Given the description of an element on the screen output the (x, y) to click on. 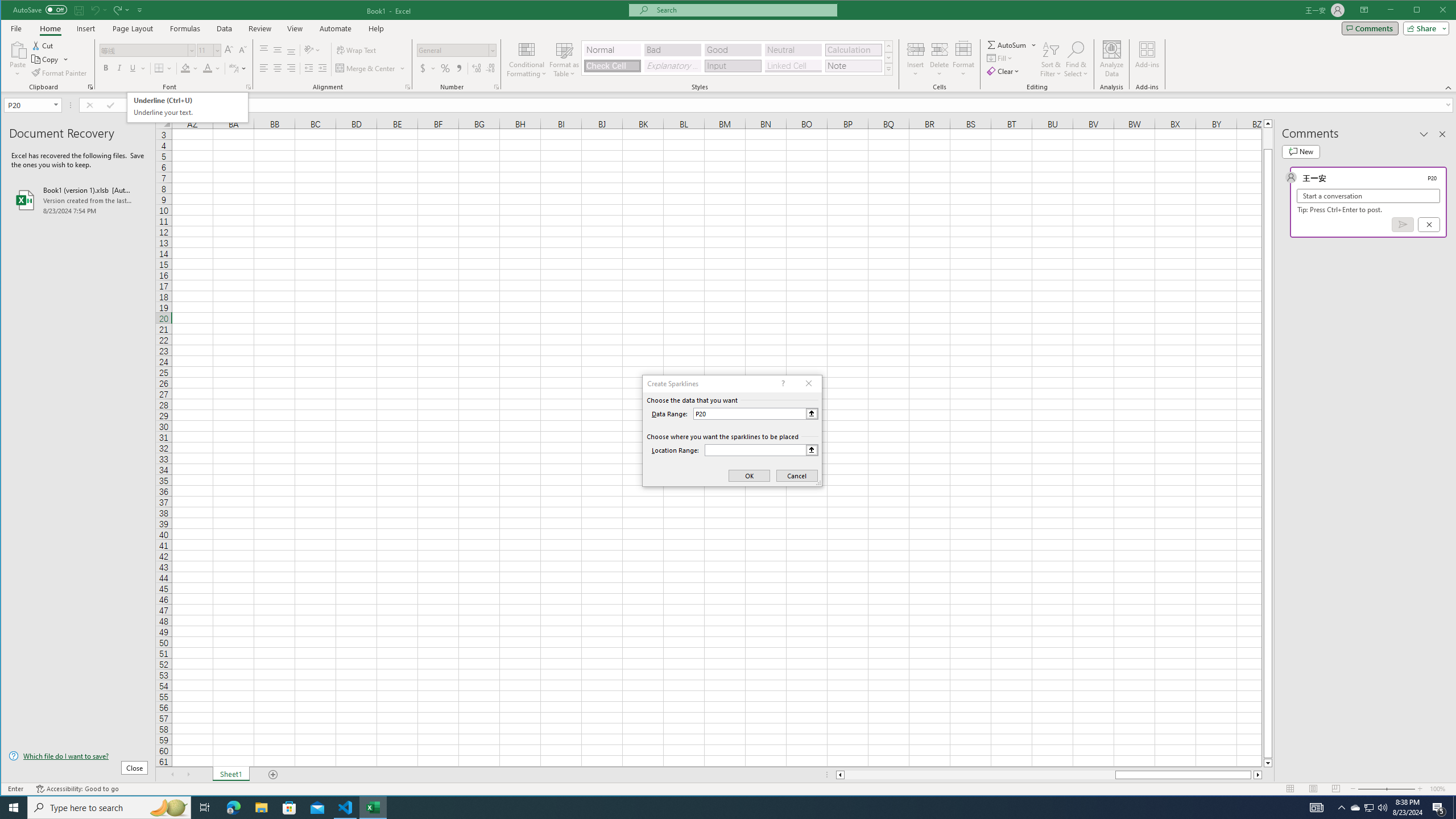
Office Clipboard... (187, 106)
Italic (89, 86)
Delete Cells... (119, 68)
New comment (939, 48)
Number Format (1300, 151)
Linked Cell (453, 50)
Find & Select (793, 65)
